Given the description of an element on the screen output the (x, y) to click on. 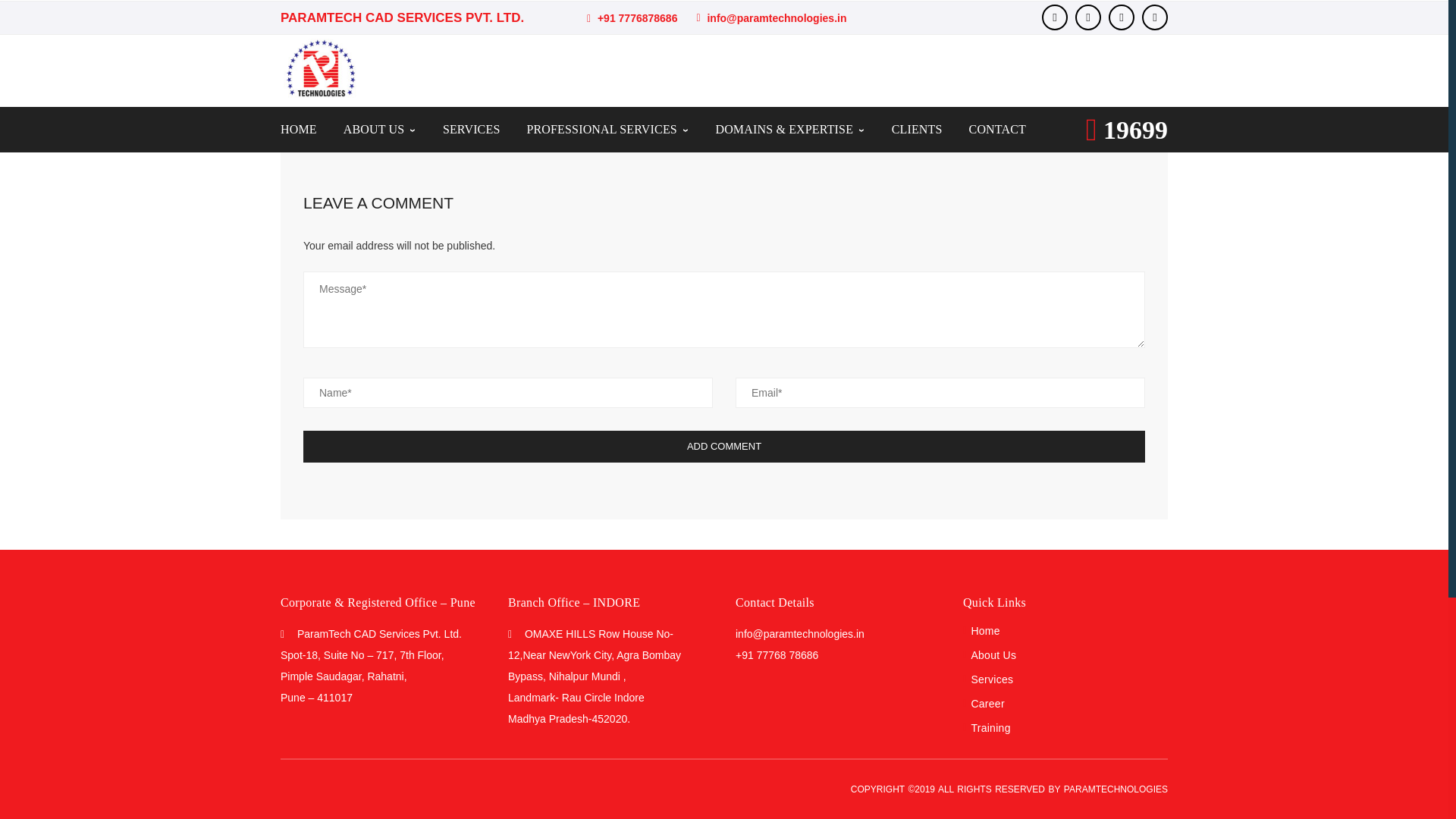
Add Comment (723, 446)
